Given the description of an element on the screen output the (x, y) to click on. 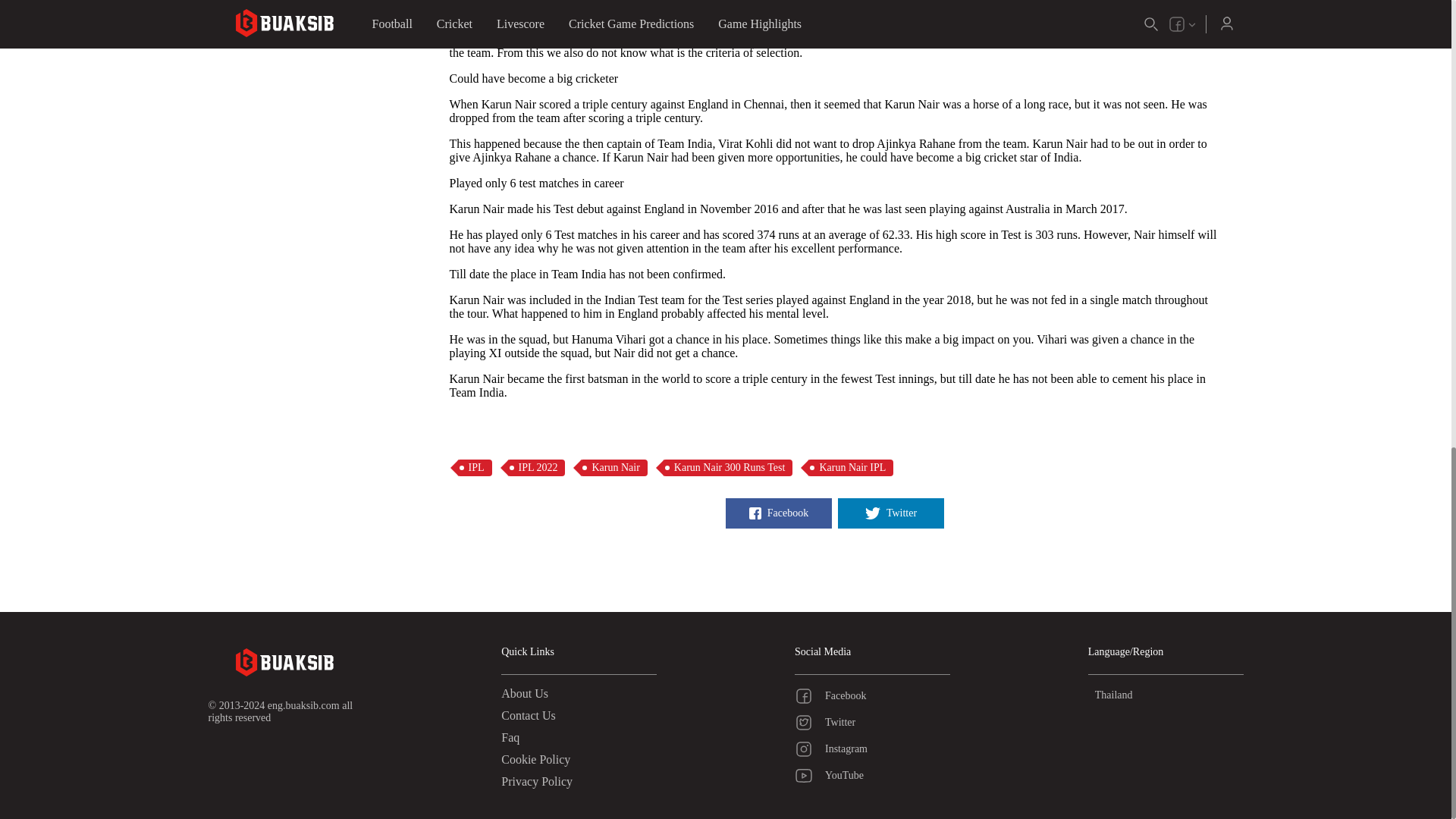
Karun Nair IPL (850, 467)
Karun Nair 300 Runs Test (727, 467)
IPL 2022 (535, 467)
IPL (474, 467)
Karun Nair (612, 467)
